Given the description of an element on the screen output the (x, y) to click on. 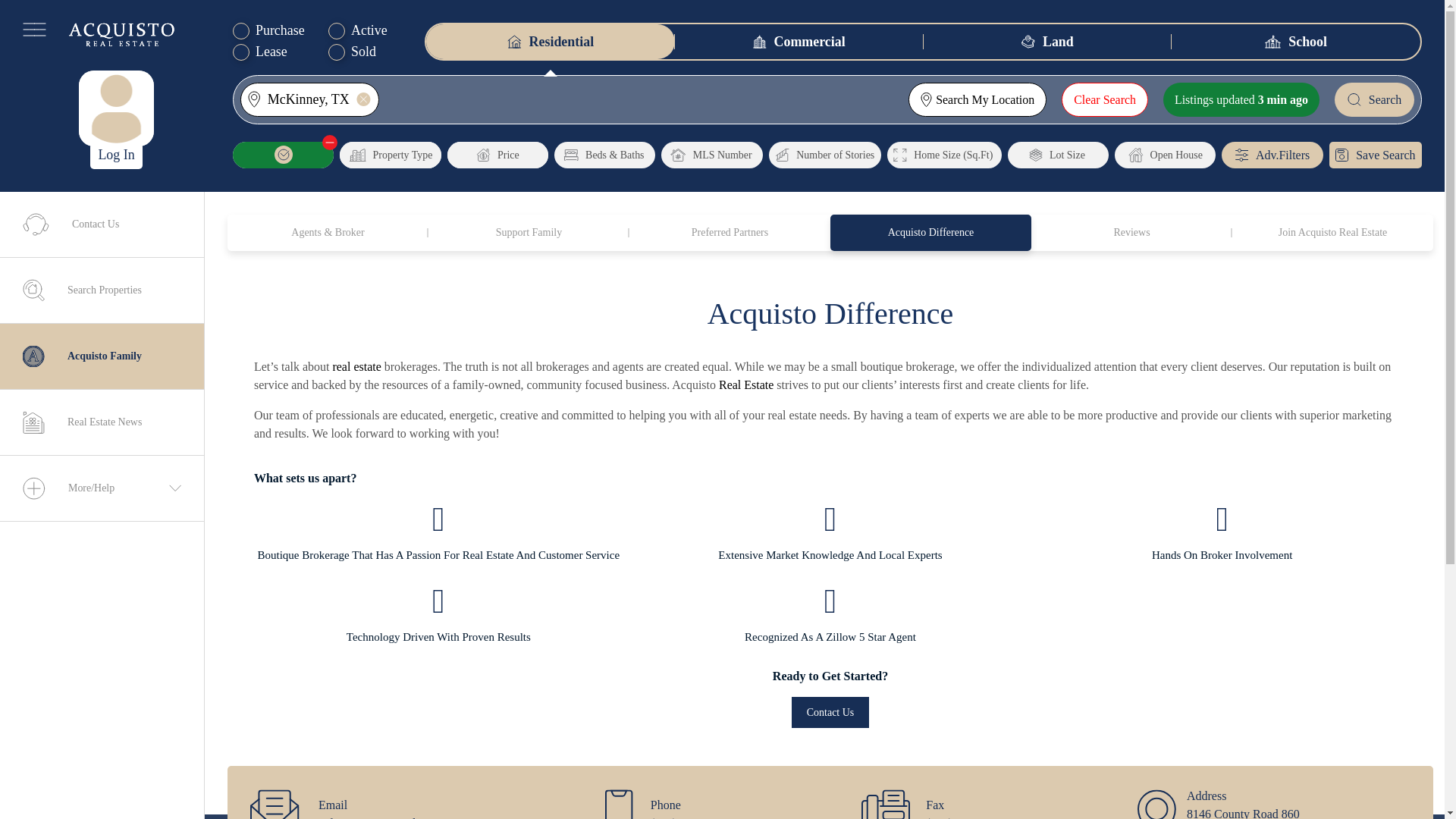
Clear Search (1104, 99)
Minus (329, 142)
For Lease (240, 52)
Real Estate (746, 384)
Search (1374, 99)
Minus (329, 142)
For Sale (240, 30)
